Given the description of an element on the screen output the (x, y) to click on. 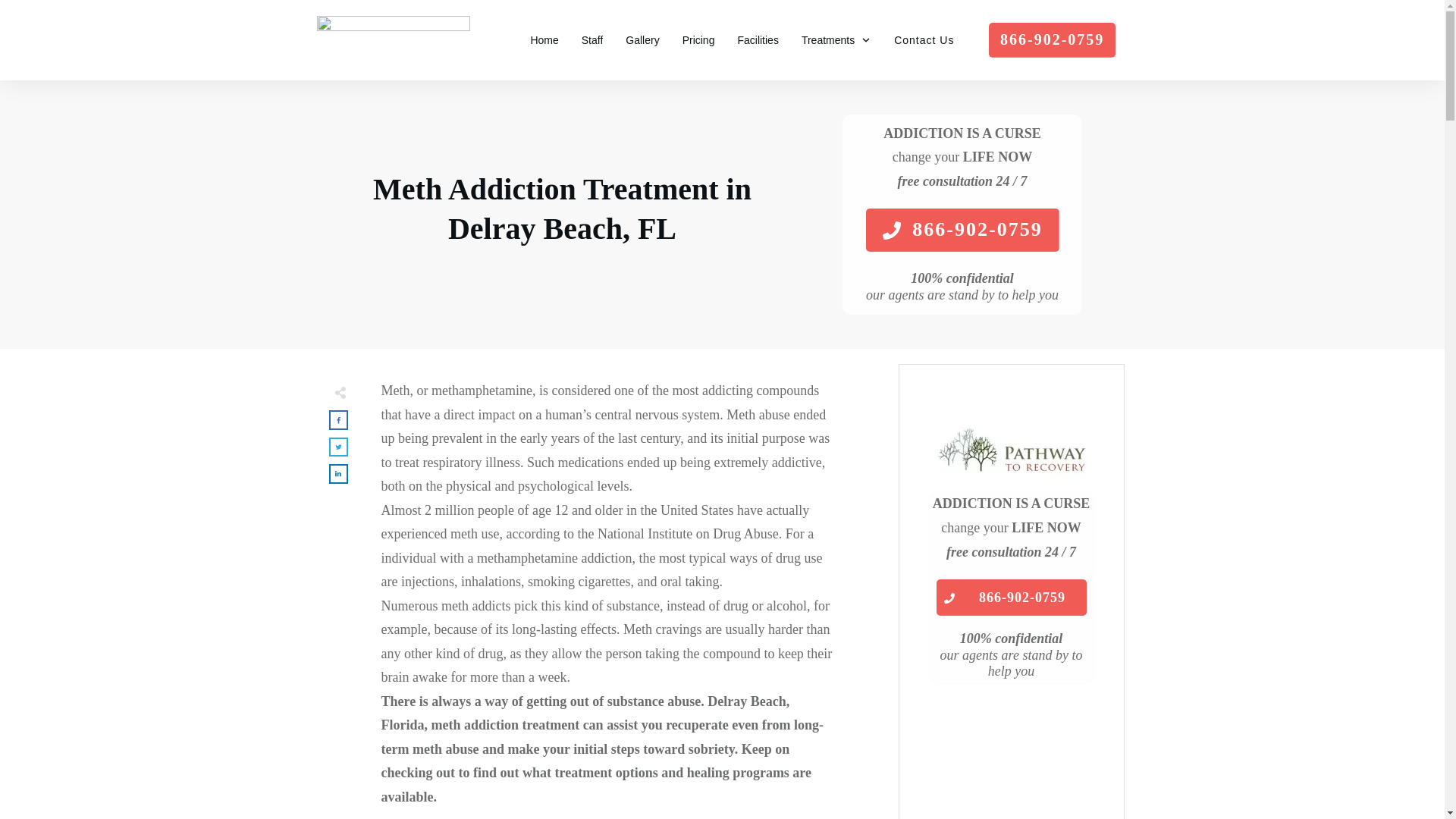
Meth Addiction Treatment in Delray Beach, FL (561, 208)
Meth Addiction Treatment in Delray Beach, FL (561, 208)
Facilities (756, 39)
866-902-0759 (1051, 39)
Gallery (642, 39)
Treatments (836, 39)
Pricing (698, 39)
Staff (592, 39)
866-902-0759 (1011, 597)
Home (543, 39)
Contact Us (923, 39)
866-902-0759 (962, 229)
